Given the description of an element on the screen output the (x, y) to click on. 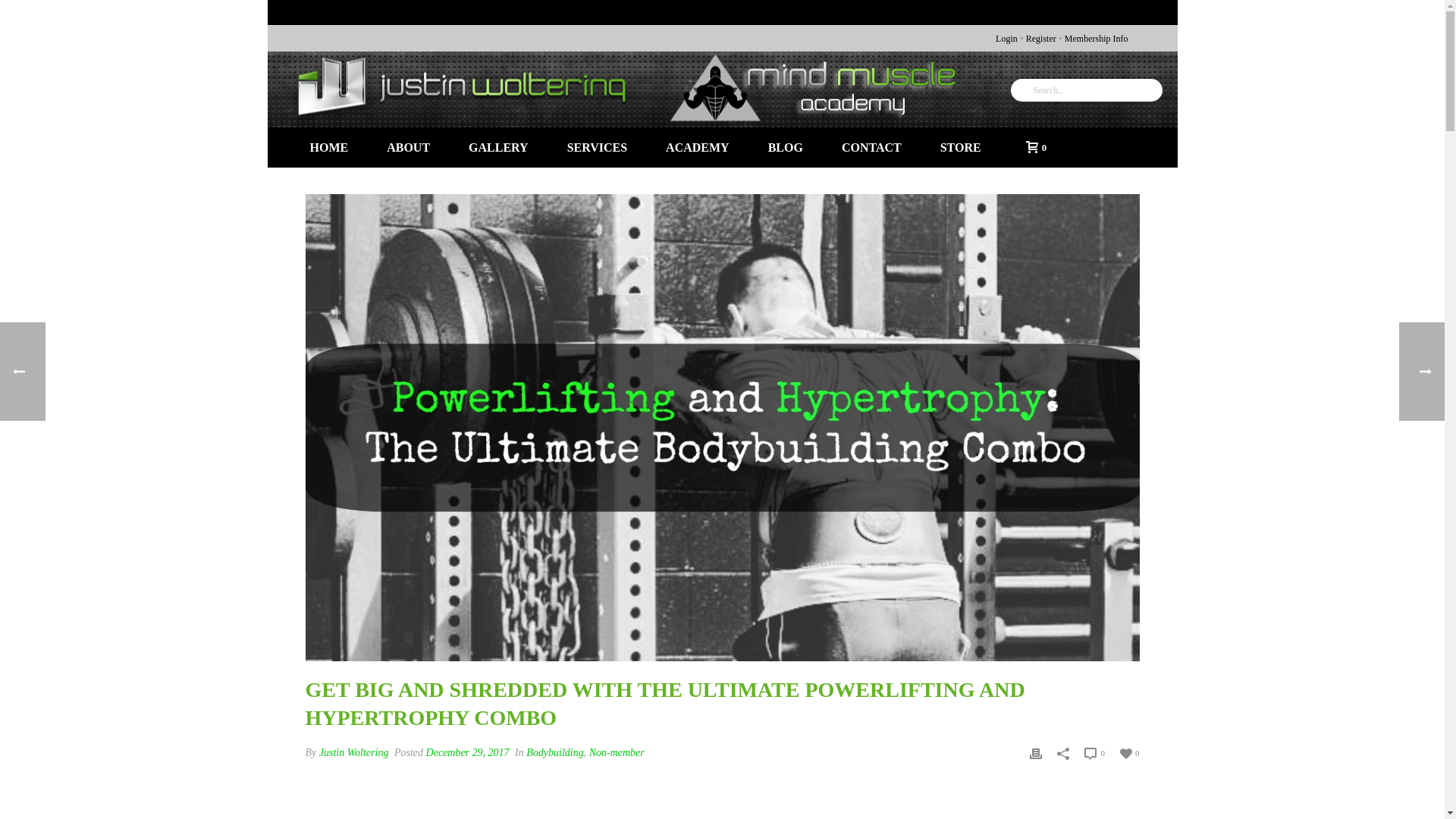
STORE (960, 147)
Membership Info (1096, 38)
STORE (960, 147)
0 (1094, 752)
CONTACT (871, 147)
ACADEMY (697, 147)
ABOUT (408, 147)
SERVICES (597, 147)
0 (1032, 146)
December 29, 2017 (467, 752)
CONTACT (871, 147)
SERVICES (597, 147)
Bodybuilding (554, 752)
